Given the description of an element on the screen output the (x, y) to click on. 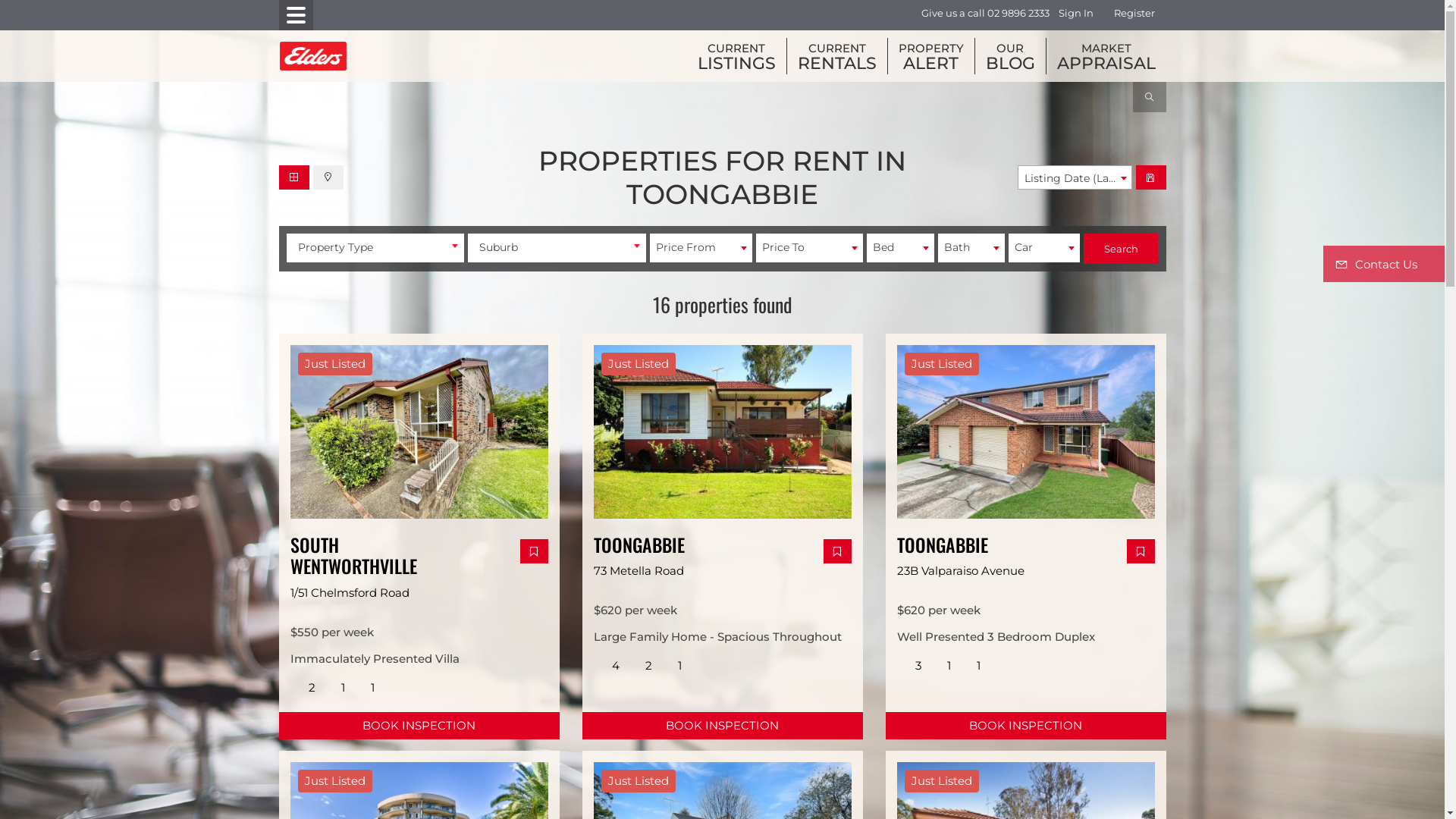
PROPERTY
ALERT Element type: text (930, 55)
BOOK INSPECTION Element type: text (722, 725)
OUR
BLOG Element type: text (1010, 55)
Sign In Element type: text (1075, 13)
Add Favourites Element type: hover (534, 551)
Add Favourites Element type: hover (837, 551)
Immaculately Presented Villa Element type: text (373, 658)
Just Listed Element type: text (1025, 433)
CURRENT
LISTINGS Element type: text (736, 55)
Just Listed Element type: text (722, 433)
BOOK INSPECTION Element type: text (1025, 725)
CURRENT
RENTALS Element type: text (837, 55)
Map View Element type: hover (327, 177)
Contact Us Element type: text (1383, 263)
Search Element type: text (1120, 248)
Just Listed Element type: text (419, 433)
Save Search Element type: hover (1150, 177)
Register Element type: text (1134, 13)
Gallery View Element type: hover (294, 177)
Well Presented 3 Bedroom Duplex Element type: text (995, 636)
Give us a call 02 9896 2333 Element type: text (984, 13)
BOOK INSPECTION Element type: text (419, 725)
Large Family Home - Spacious Throughout Element type: text (716, 636)
MARKET
APPRAISAL Element type: text (1106, 55)
Add Favourites Element type: hover (1140, 551)
